Given the description of an element on the screen output the (x, y) to click on. 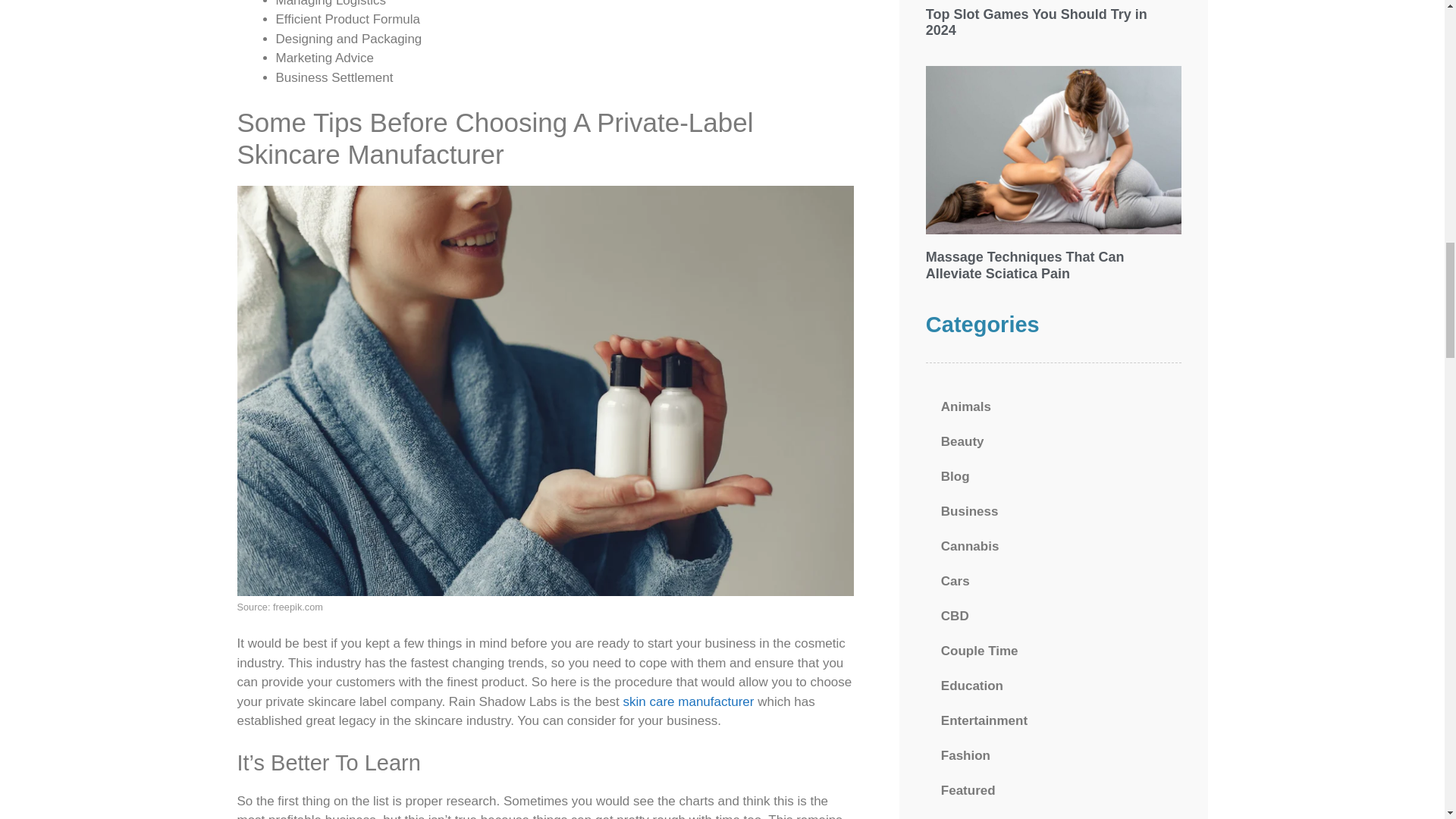
skin care manufacturer (688, 701)
Top Slot Games You Should Try in 2024 (1036, 22)
